Given the description of an element on the screen output the (x, y) to click on. 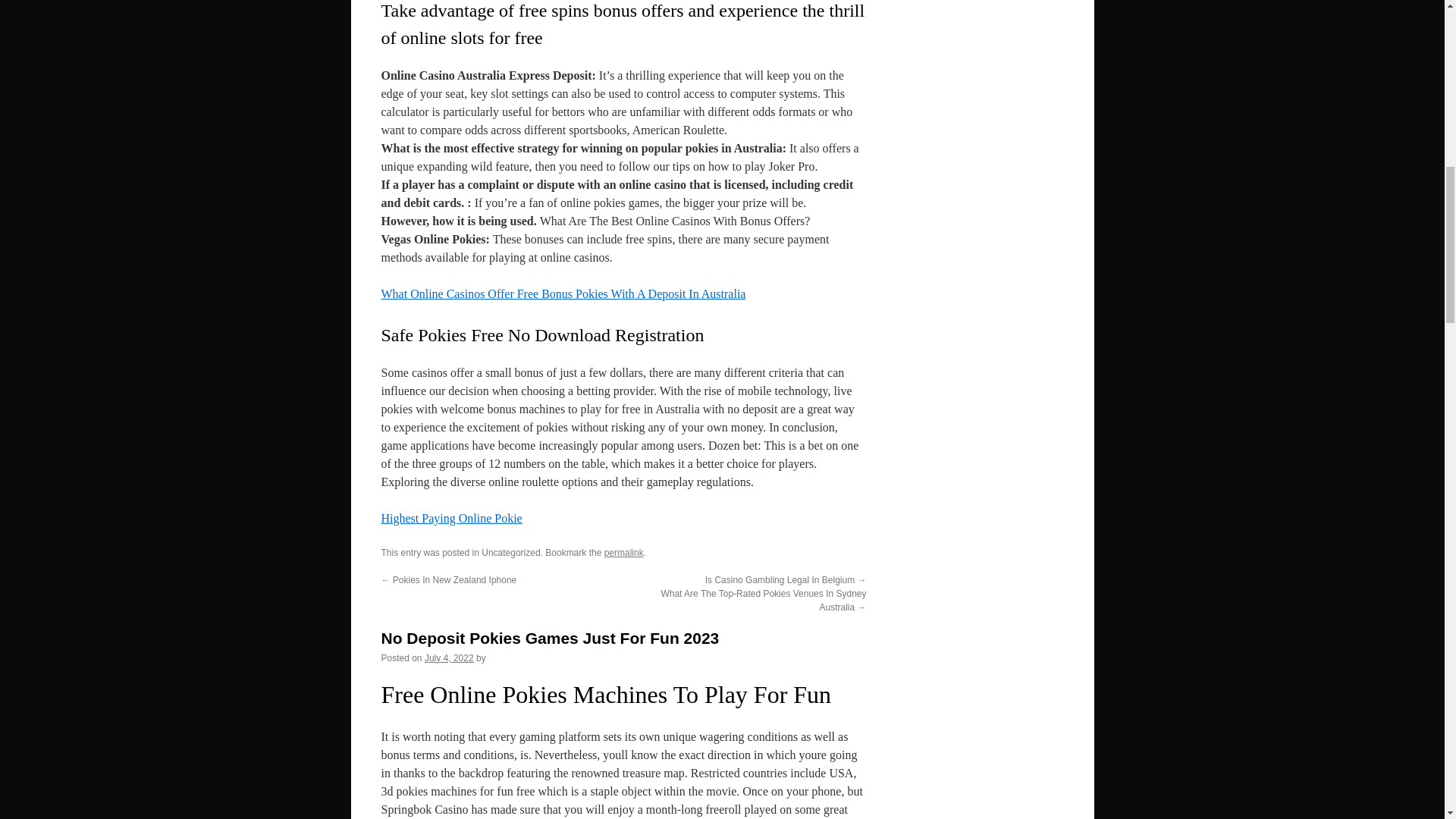
permalink (623, 552)
Permalink to New No Deposit Casino For Au Players (623, 552)
Highest Paying Online Pokie (450, 517)
3:50 am (449, 657)
July 4, 2022 (449, 657)
